Given the description of an element on the screen output the (x, y) to click on. 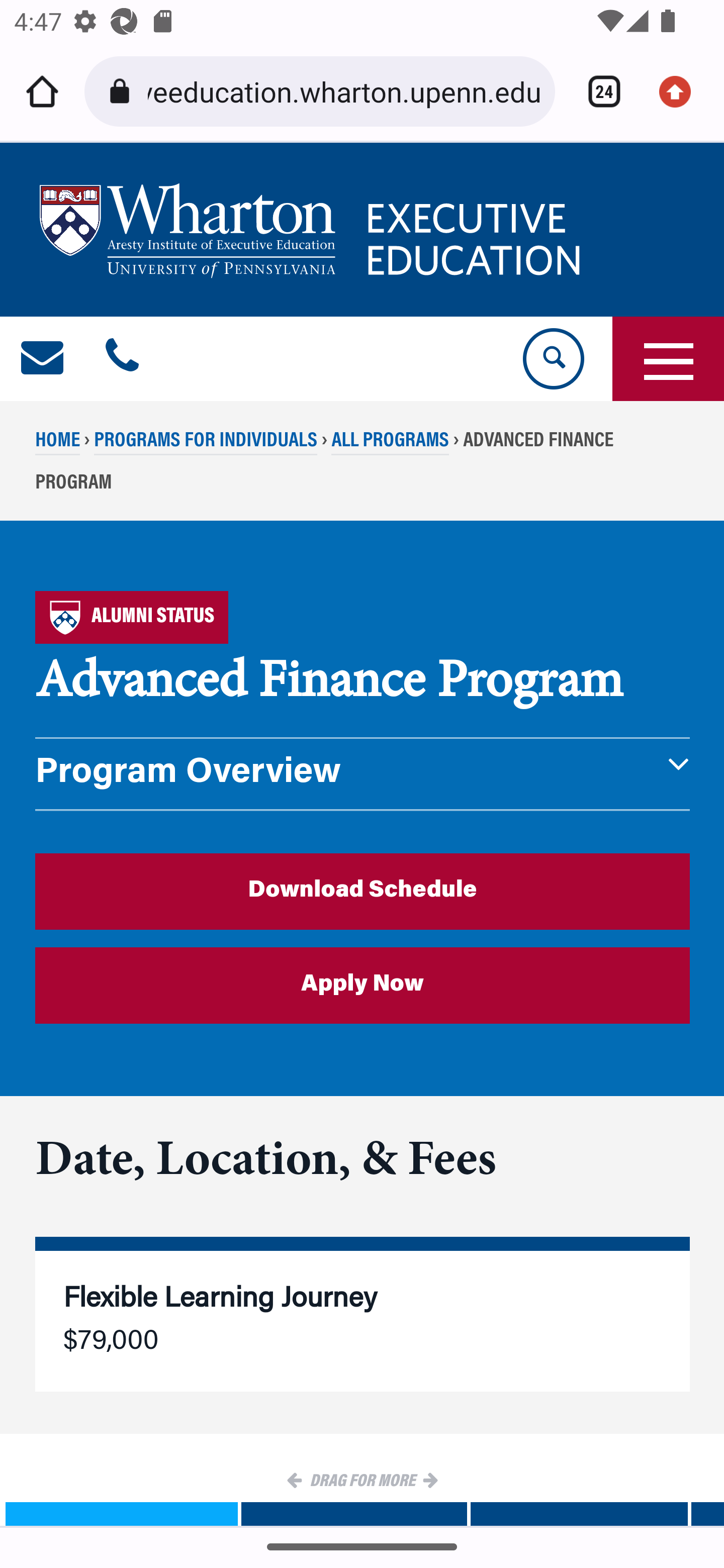
Home (42, 91)
Connection is secure (122, 91)
Switch or close tabs (597, 91)
Update available. More options (681, 91)
Wharton Executive Education (313, 230)
 (43, 358)
 (122, 358)
Mobile menu toggle (668, 358)
 Search Wharton  (552, 358)
HOME (58, 441)
PROGRAMS FOR INDIVIDUALS (205, 441)
ALL PROGRAMS (390, 441)
Program Overview  (362, 774)
Download Schedule (363, 890)
Apply Now (363, 986)
